Given the description of an element on the screen output the (x, y) to click on. 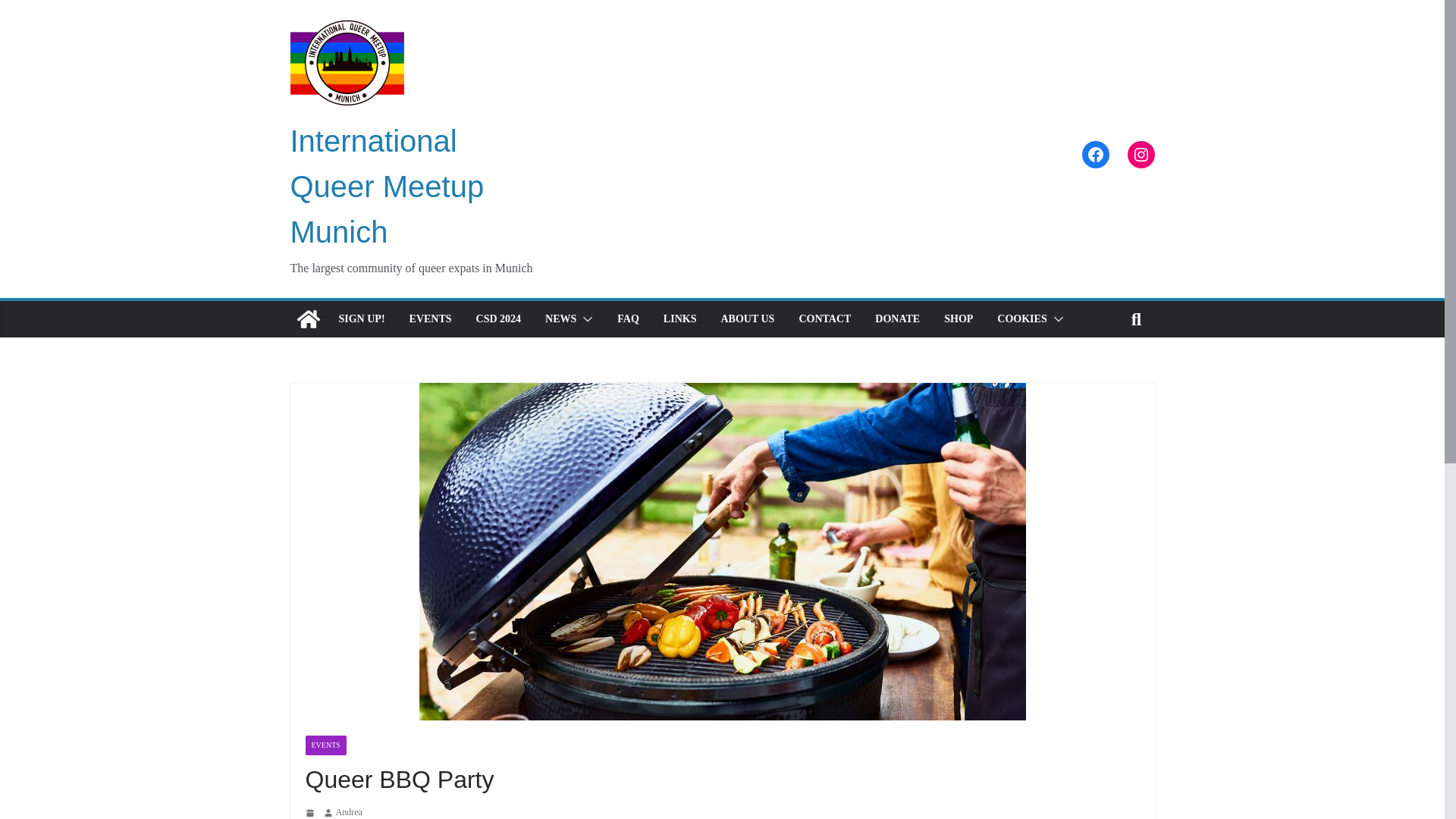
Andrea (347, 811)
FAQ (628, 319)
EVENTS (325, 745)
DONATE (897, 319)
SHOP (957, 319)
11:52 am (310, 812)
International Queer Meetup Munich (386, 186)
Instagram (1140, 154)
International Queer Meetup Munich (386, 186)
SIGN UP! (360, 319)
